Given the description of an element on the screen output the (x, y) to click on. 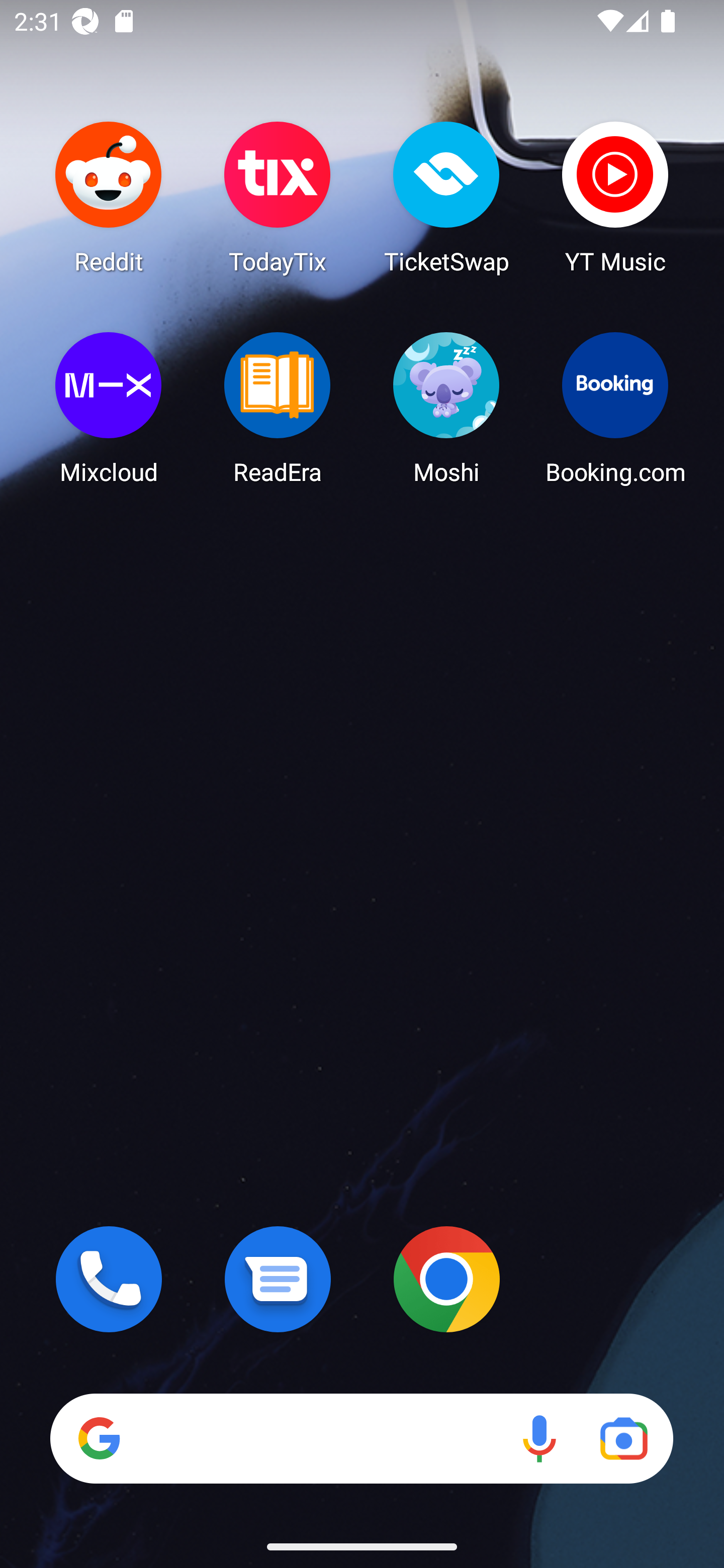
Reddit (108, 196)
TodayTix (277, 196)
TicketSwap (445, 196)
YT Music (615, 196)
Mixcloud (108, 407)
ReadEra (277, 407)
Moshi (445, 407)
Booking.com (615, 407)
Phone (108, 1279)
Messages (277, 1279)
Chrome (446, 1279)
Search Voice search Google Lens (361, 1438)
Voice search (539, 1438)
Google Lens (623, 1438)
